Given the description of an element on the screen output the (x, y) to click on. 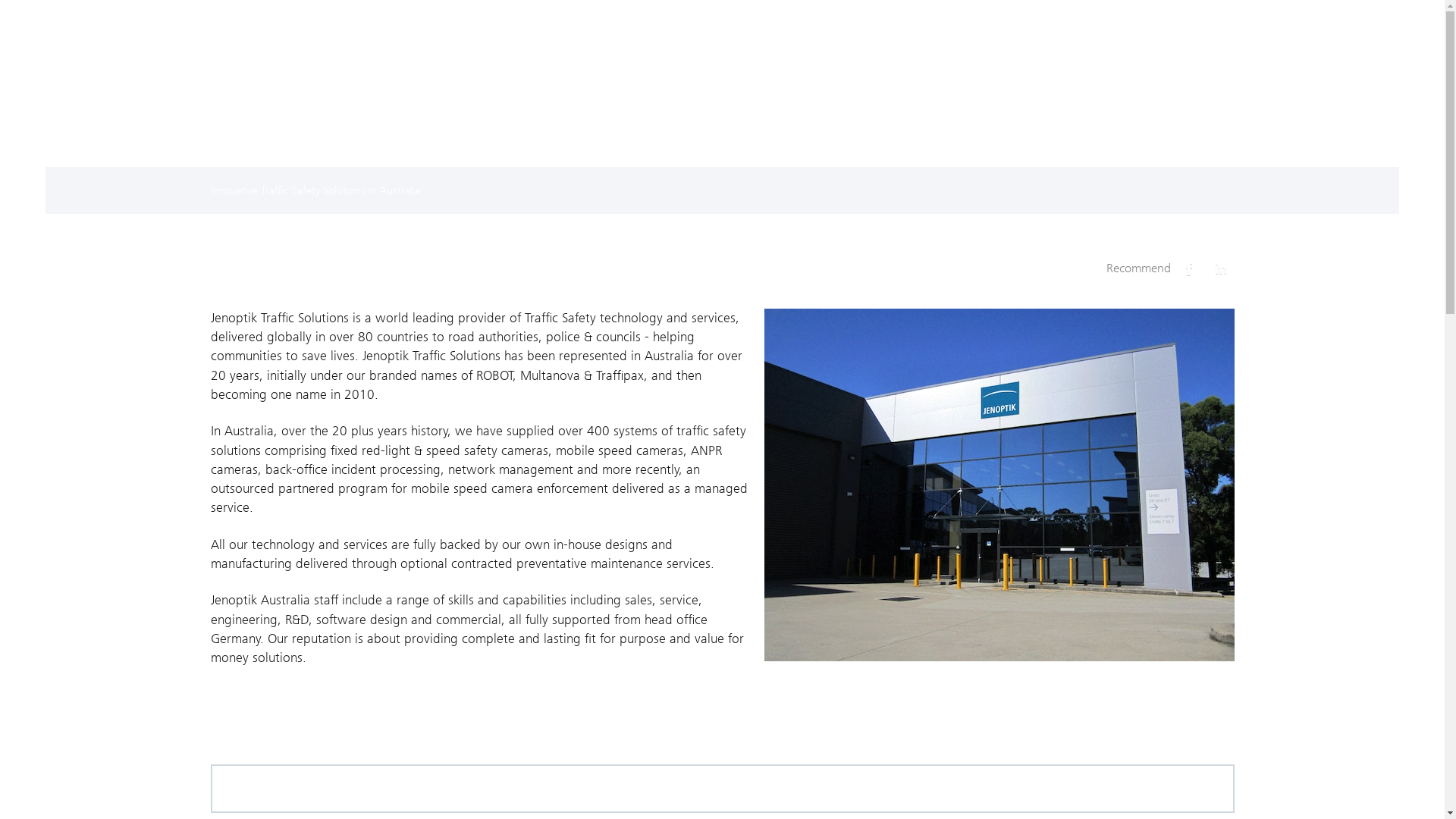
Facebook Element type: text (1188, 268)
LinkedIn Element type: text (1220, 268)
